Given the description of an element on the screen output the (x, y) to click on. 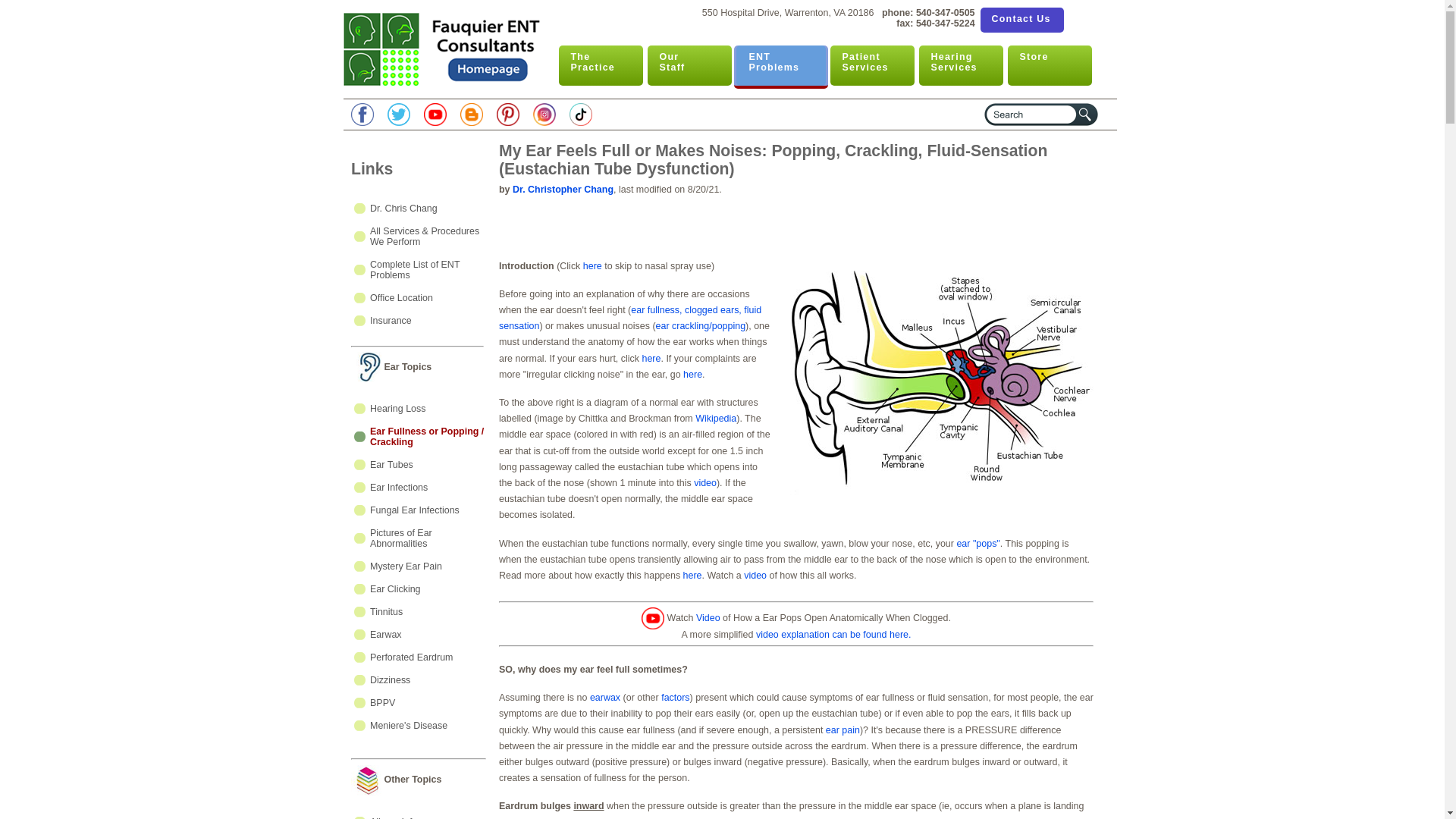
Pictures of Ear Abnormalities (780, 65)
Hearing Loss (418, 538)
Contact Us (418, 408)
Fungal Ear Infections (1020, 19)
Store (418, 510)
Dr. Chris Chang (1048, 65)
Follow us on Twitter (418, 208)
Ear Infections (960, 65)
